Given the description of an element on the screen output the (x, y) to click on. 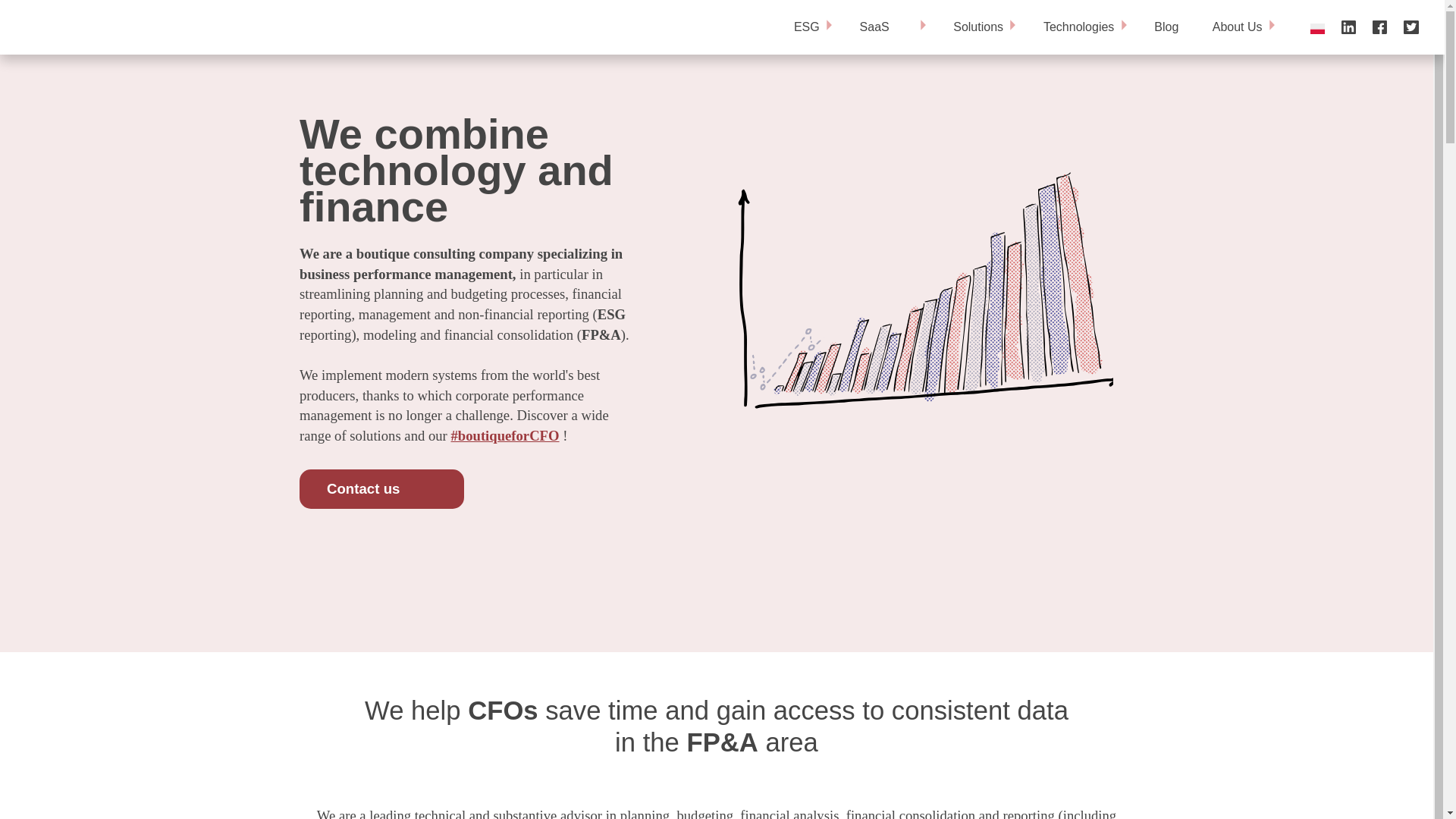
Incube - Corporate Performance Management (64, 27)
SaaS (889, 27)
Technologies (1081, 27)
Solutions (981, 27)
ESG (809, 27)
